Given the description of an element on the screen output the (x, y) to click on. 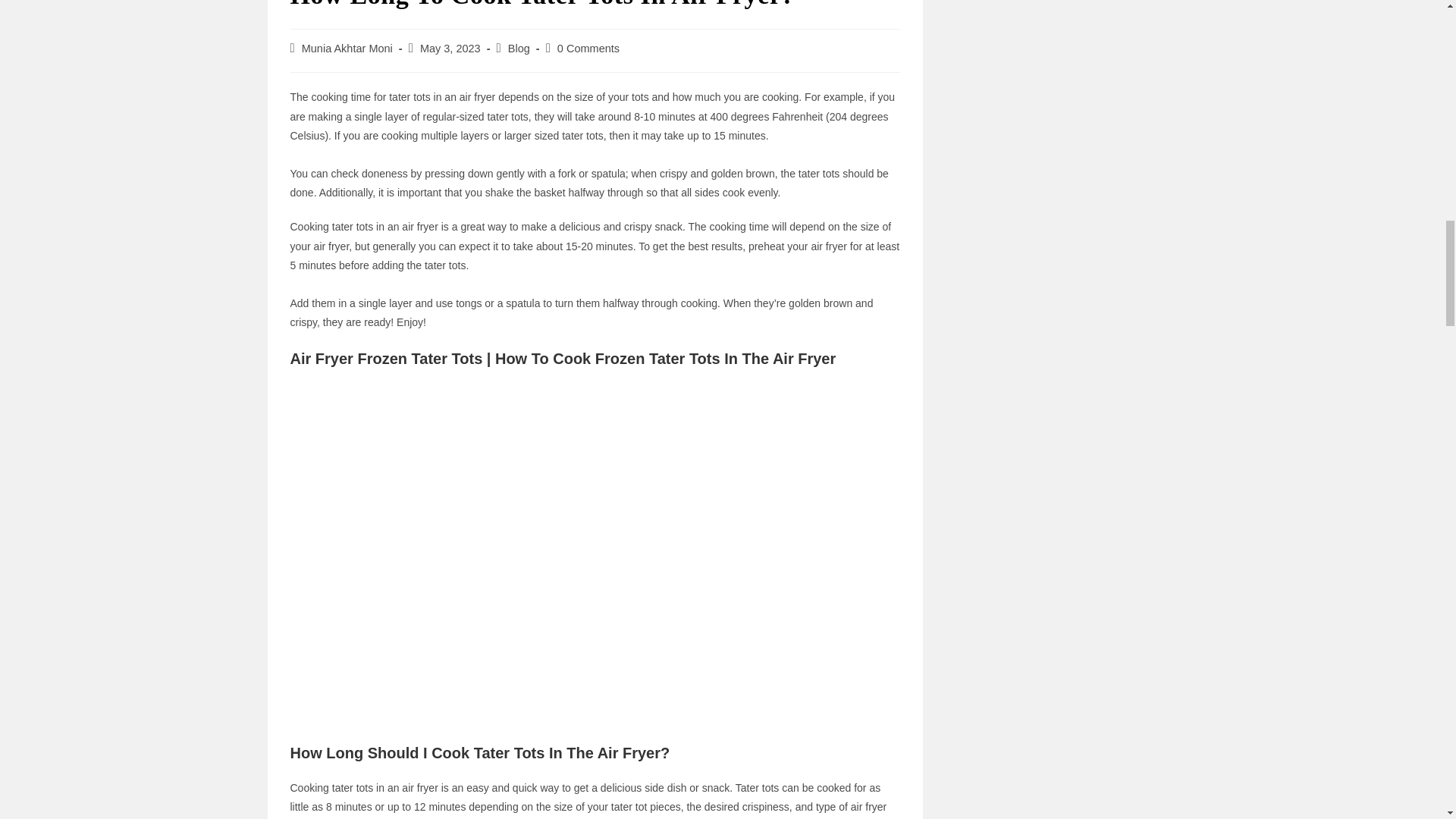
Munia Akhtar Moni (347, 48)
Posts by Munia Akhtar Moni (347, 48)
0 Comments (588, 48)
Blog (518, 48)
